Given the description of an element on the screen output the (x, y) to click on. 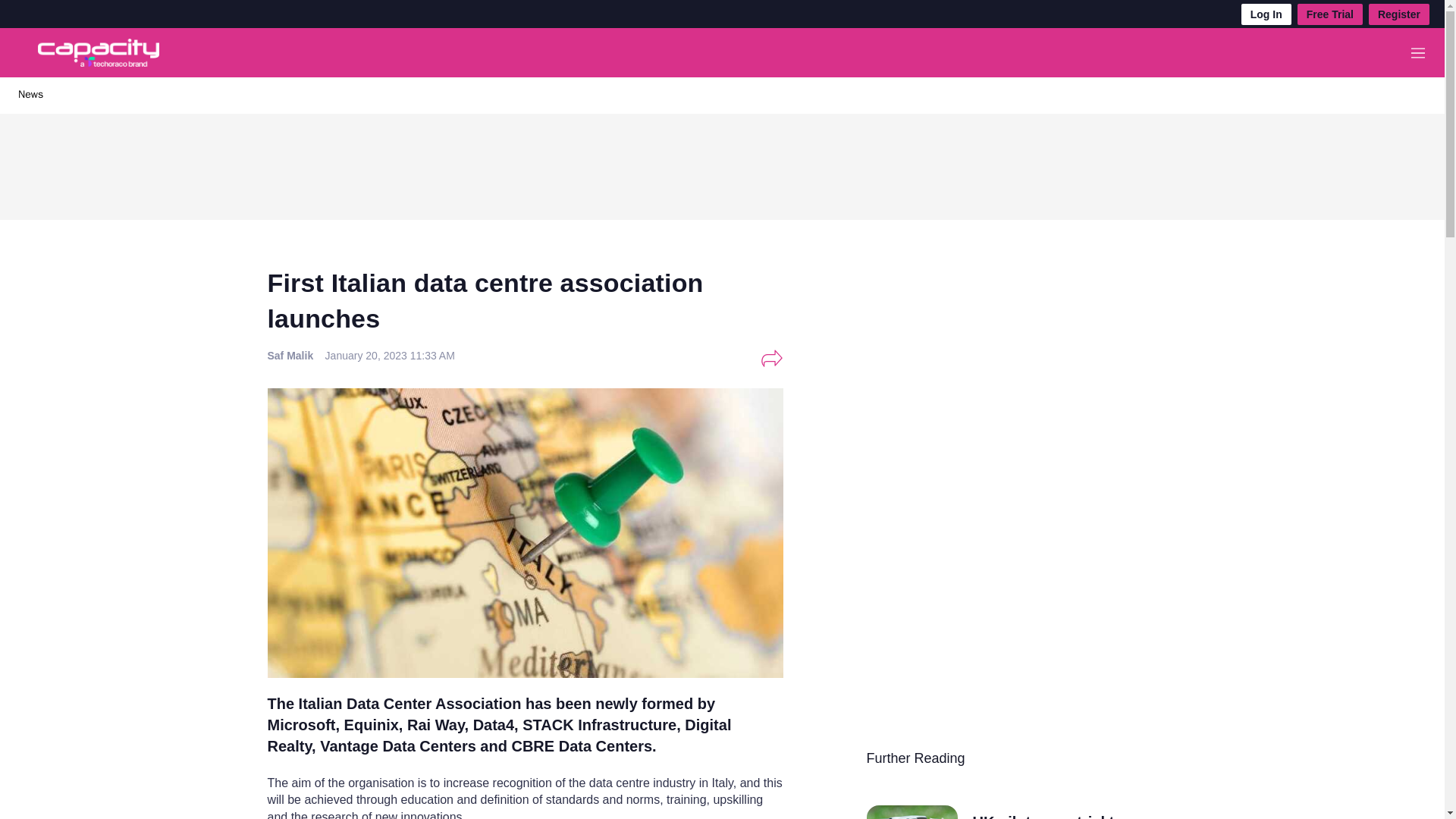
Register (1398, 13)
Log In (1266, 13)
3rd party ad content (721, 162)
Share (771, 358)
Free Trial (1329, 13)
